Given the description of an element on the screen output the (x, y) to click on. 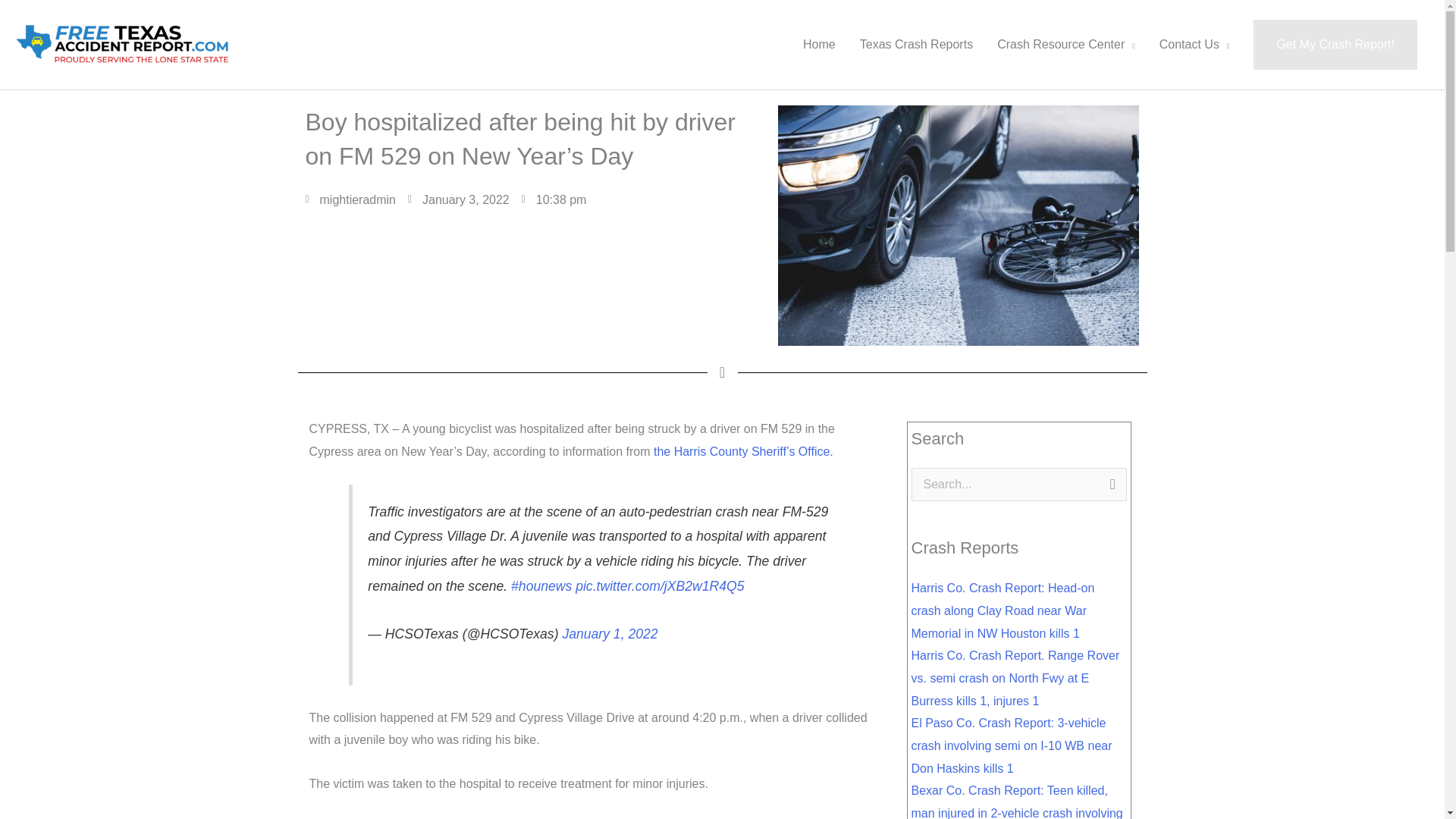
Contact Us (1194, 44)
Get My Crash Report! (1334, 44)
Home (818, 44)
Crash Resource Center (1066, 44)
Texas Crash Reports (916, 44)
January 1, 2022 (610, 633)
